Given the description of an element on the screen output the (x, y) to click on. 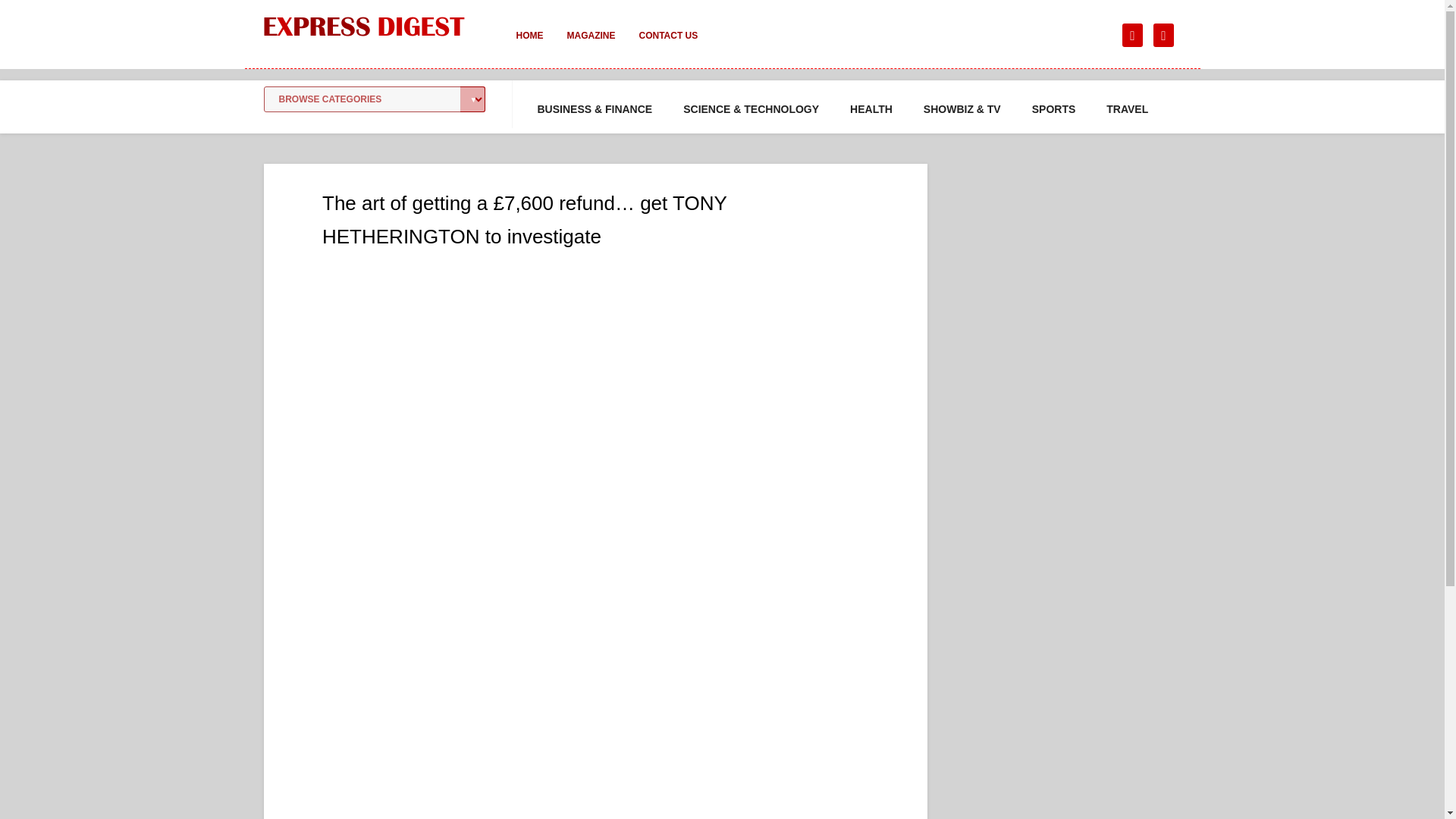
SPORTS (1053, 109)
HEALTH (871, 109)
TRAVEL (1127, 109)
CONTACT US (667, 45)
MAGAZINE (590, 45)
